Given the description of an element on the screen output the (x, y) to click on. 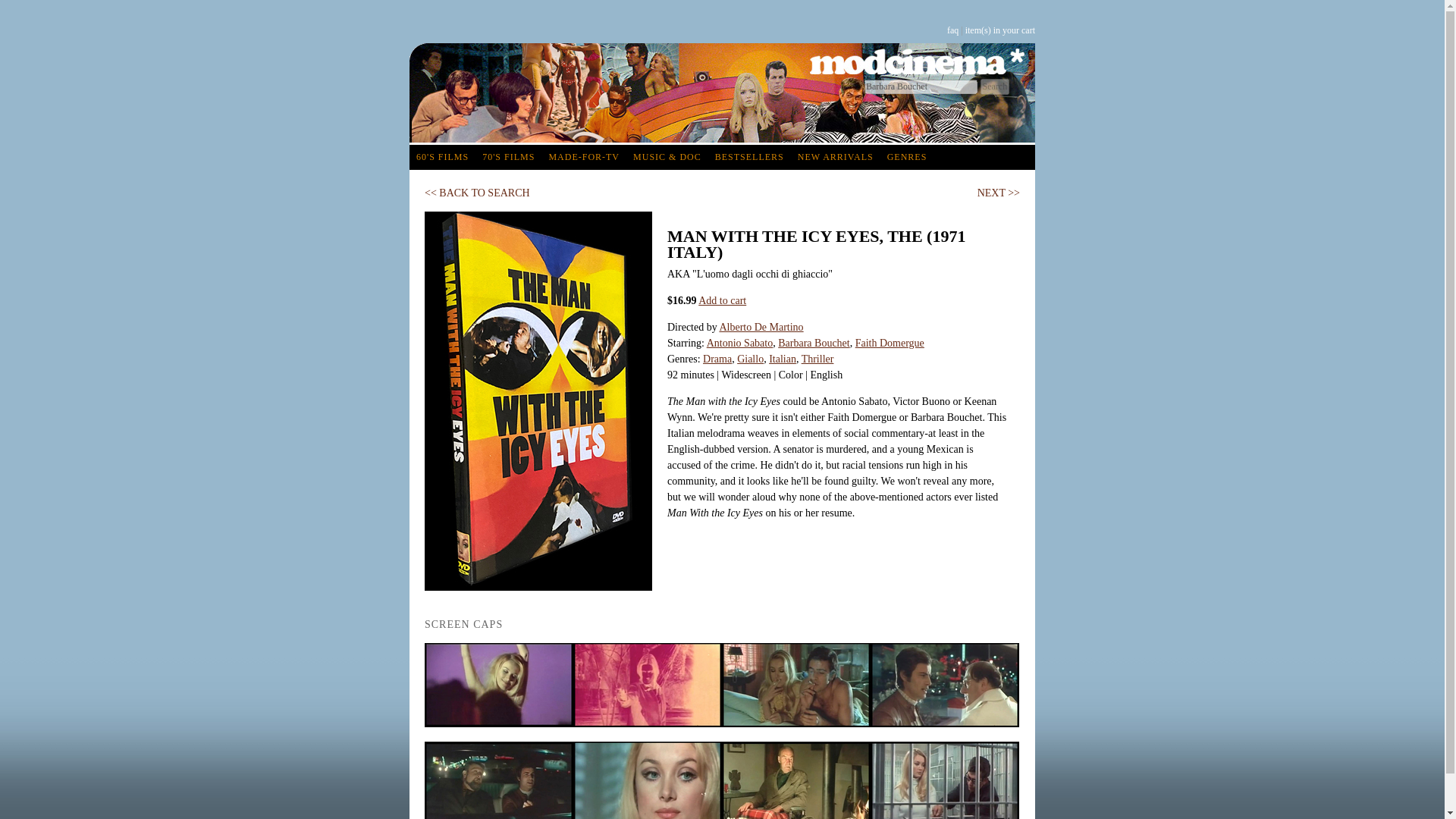
GENRES (907, 156)
Drama (717, 358)
Alberto De Martino (761, 326)
Search (994, 86)
NEW ARRIVALS (835, 156)
Giallo (749, 358)
Barbara Bouchet (812, 342)
Antonio Sabato (739, 342)
BESTSELLERS (748, 156)
faq (952, 30)
Faith Domergue (890, 342)
Barbara Bouchet (920, 86)
60'S FILMS (442, 156)
Search (994, 86)
Thriller (818, 358)
